Given the description of an element on the screen output the (x, y) to click on. 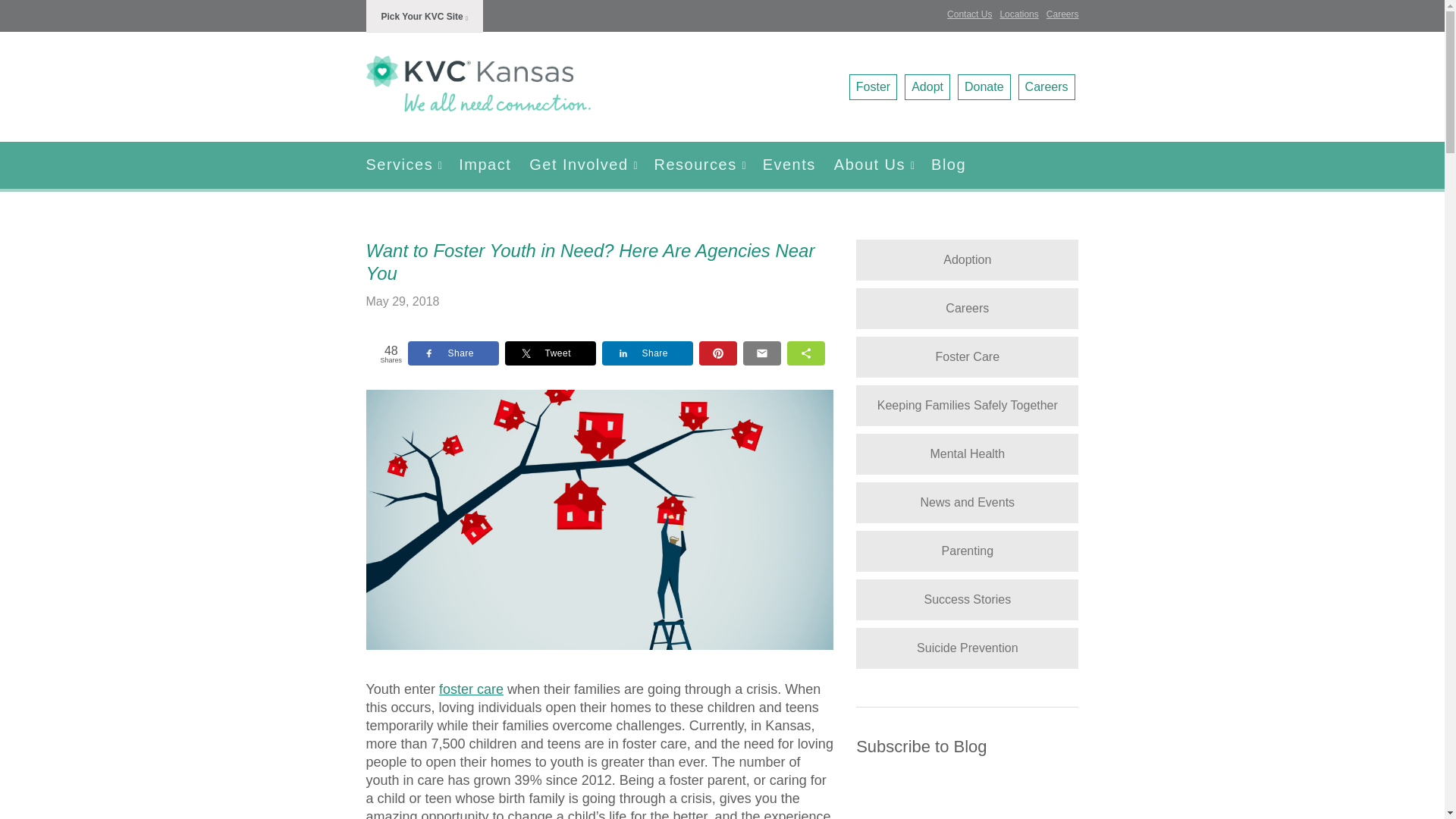
Adopt (927, 86)
Get Involved (582, 165)
Careers (1046, 86)
Careers (1062, 14)
Impact (484, 165)
Locations (1018, 14)
Form 0 (967, 802)
Contact Us (969, 14)
Donate (984, 86)
Pick Your KVC Site (424, 16)
Foster (872, 86)
Services (407, 165)
